Given the description of an element on the screen output the (x, y) to click on. 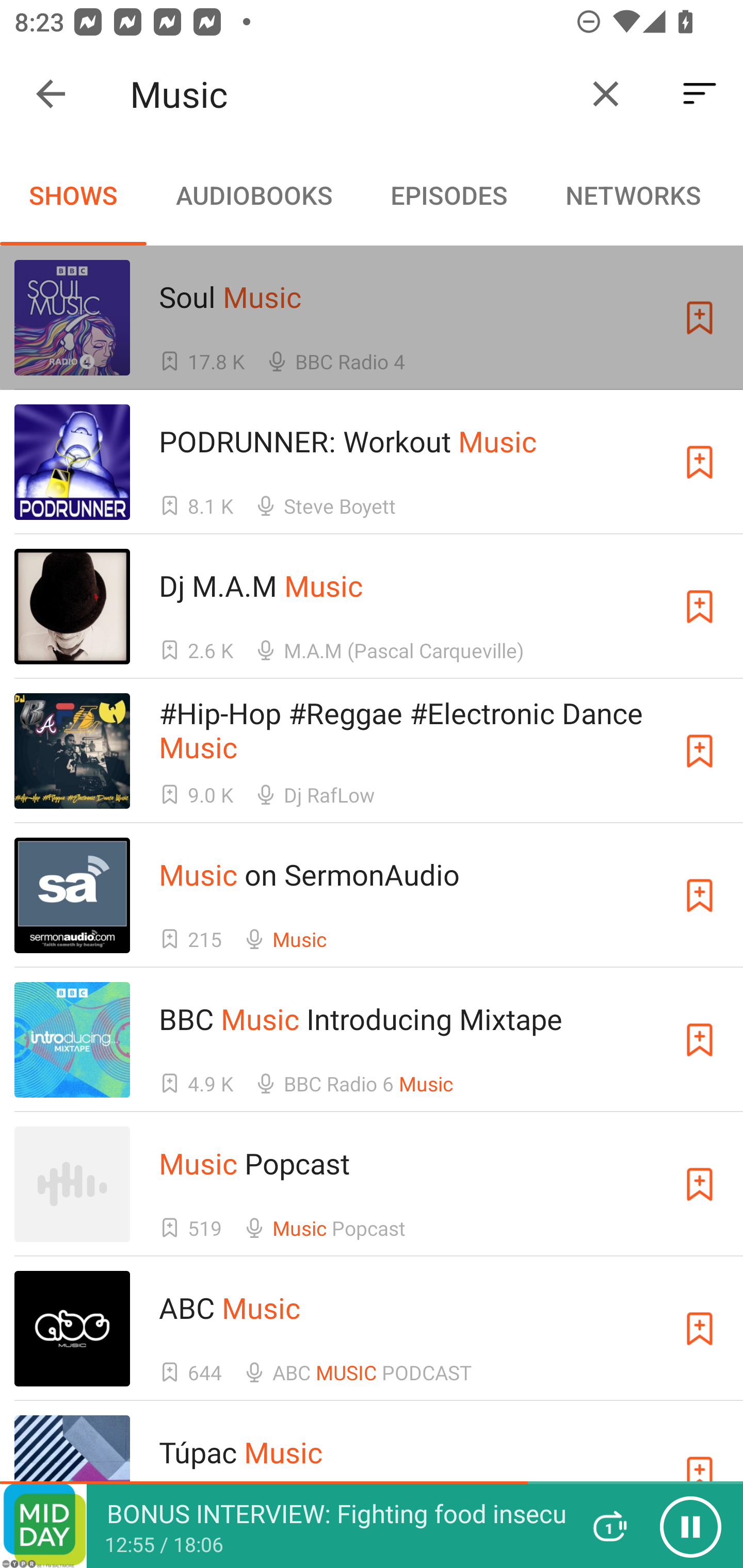
Collapse (50, 93)
Clear query (605, 93)
Sort By (699, 93)
Music (349, 94)
SHOWS (73, 195)
AUDIOBOOKS (253, 195)
EPISODES (448, 195)
NETWORKS (632, 195)
Subscribe (699, 317)
Subscribe (699, 462)
Subscribe (699, 606)
Subscribe (699, 751)
Subscribe (699, 895)
Subscribe (699, 1039)
Subscribe (699, 1183)
Subscribe (699, 1328)
Pause (690, 1526)
